Given the description of an element on the screen output the (x, y) to click on. 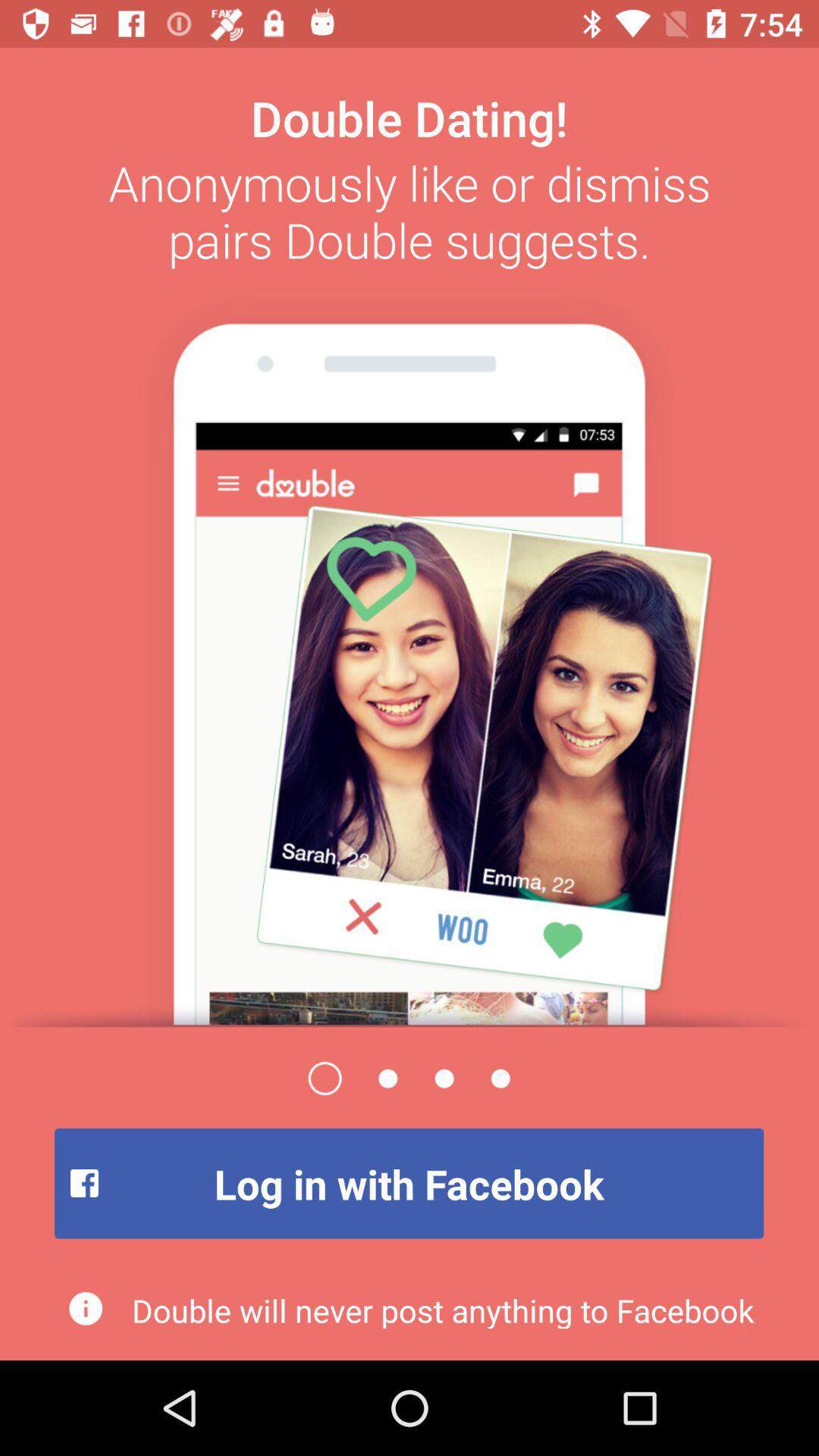
open the page (409, 651)
